Given the description of an element on the screen output the (x, y) to click on. 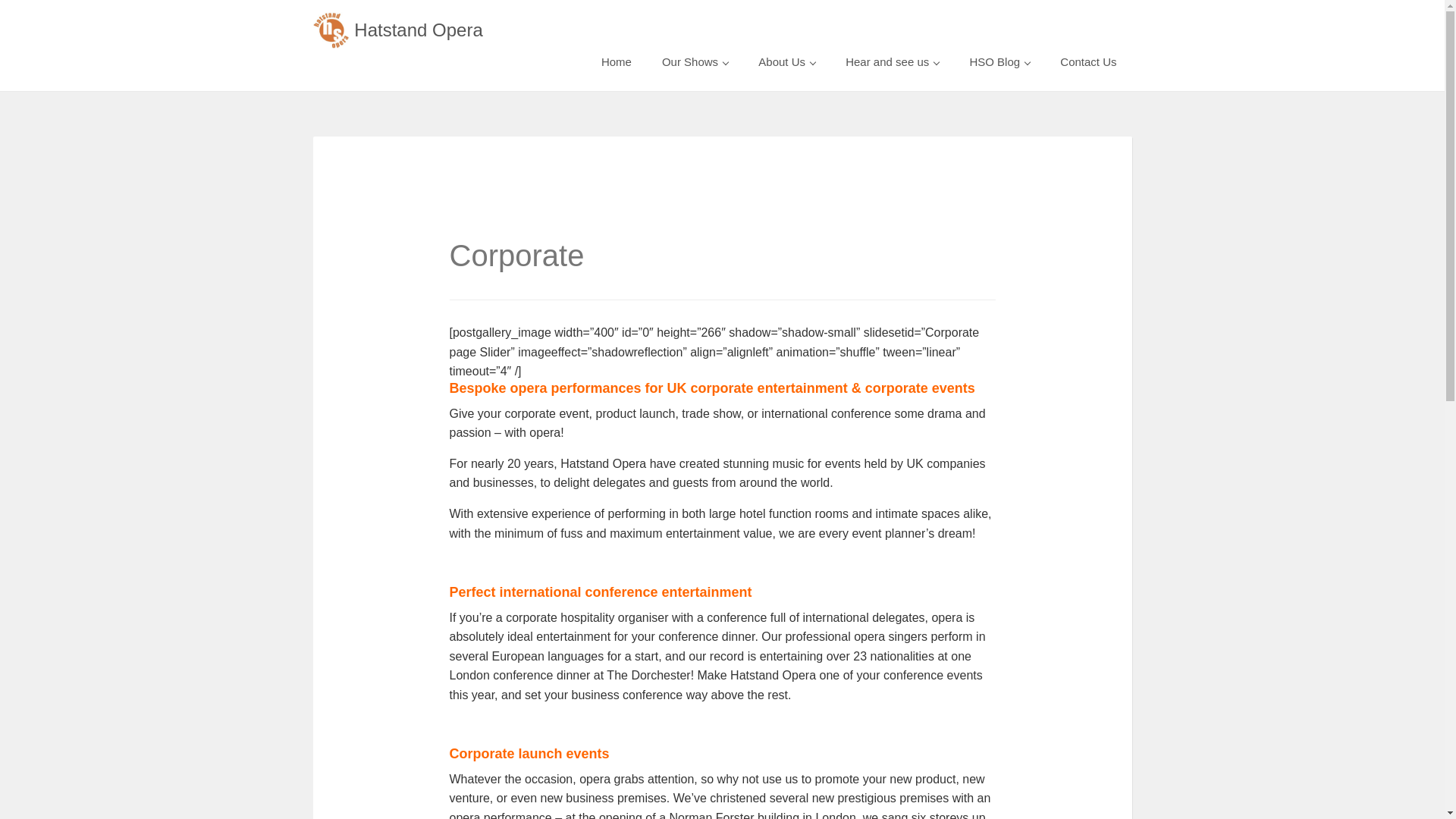
Hatstand Opera (398, 30)
Contact Us (1088, 61)
About Us (785, 61)
Our Shows (694, 61)
Hear and see us (891, 61)
Home (616, 61)
HSO Blog (999, 61)
